Given the description of an element on the screen output the (x, y) to click on. 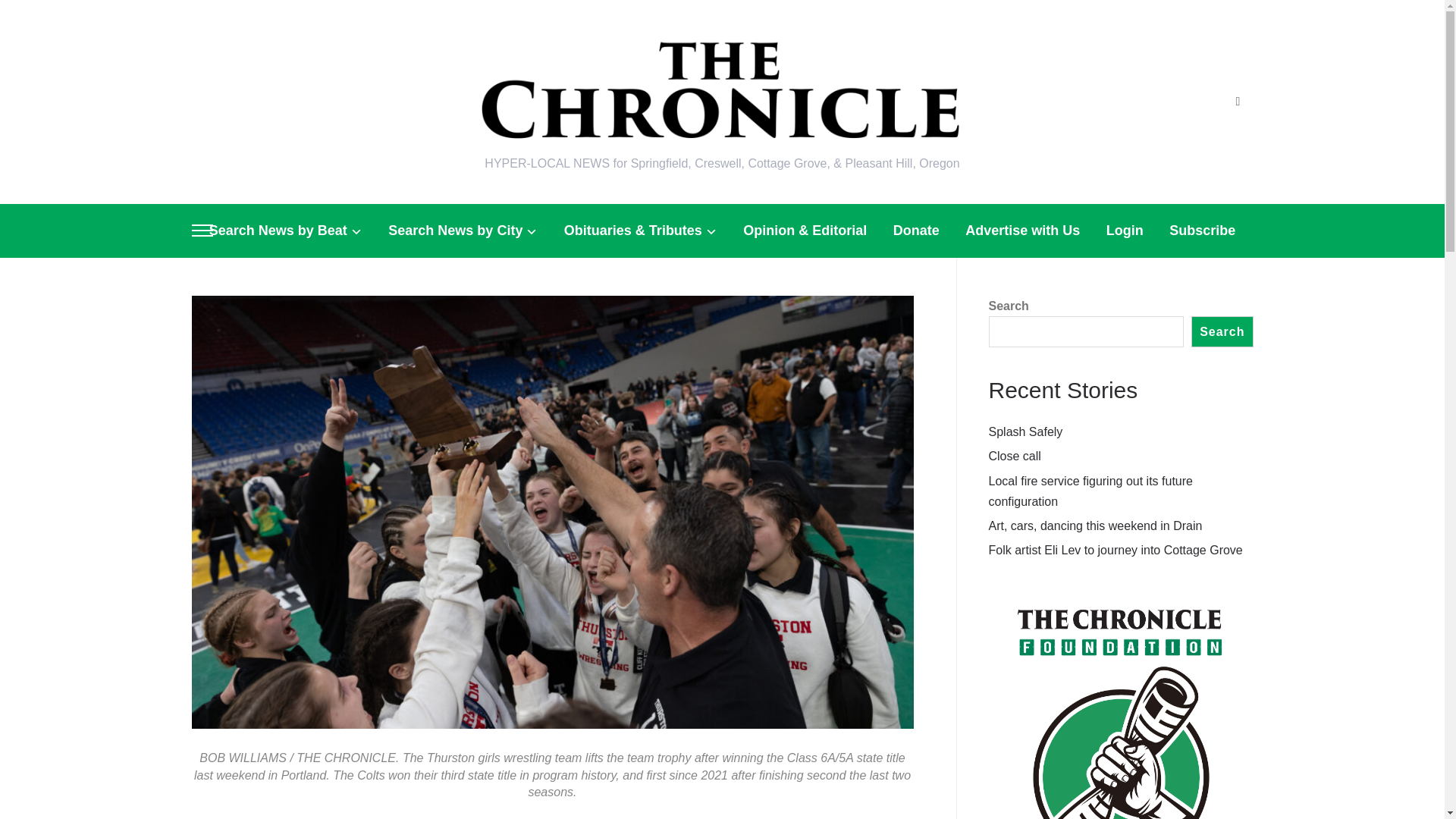
Search (1237, 101)
